Given the description of an element on the screen output the (x, y) to click on. 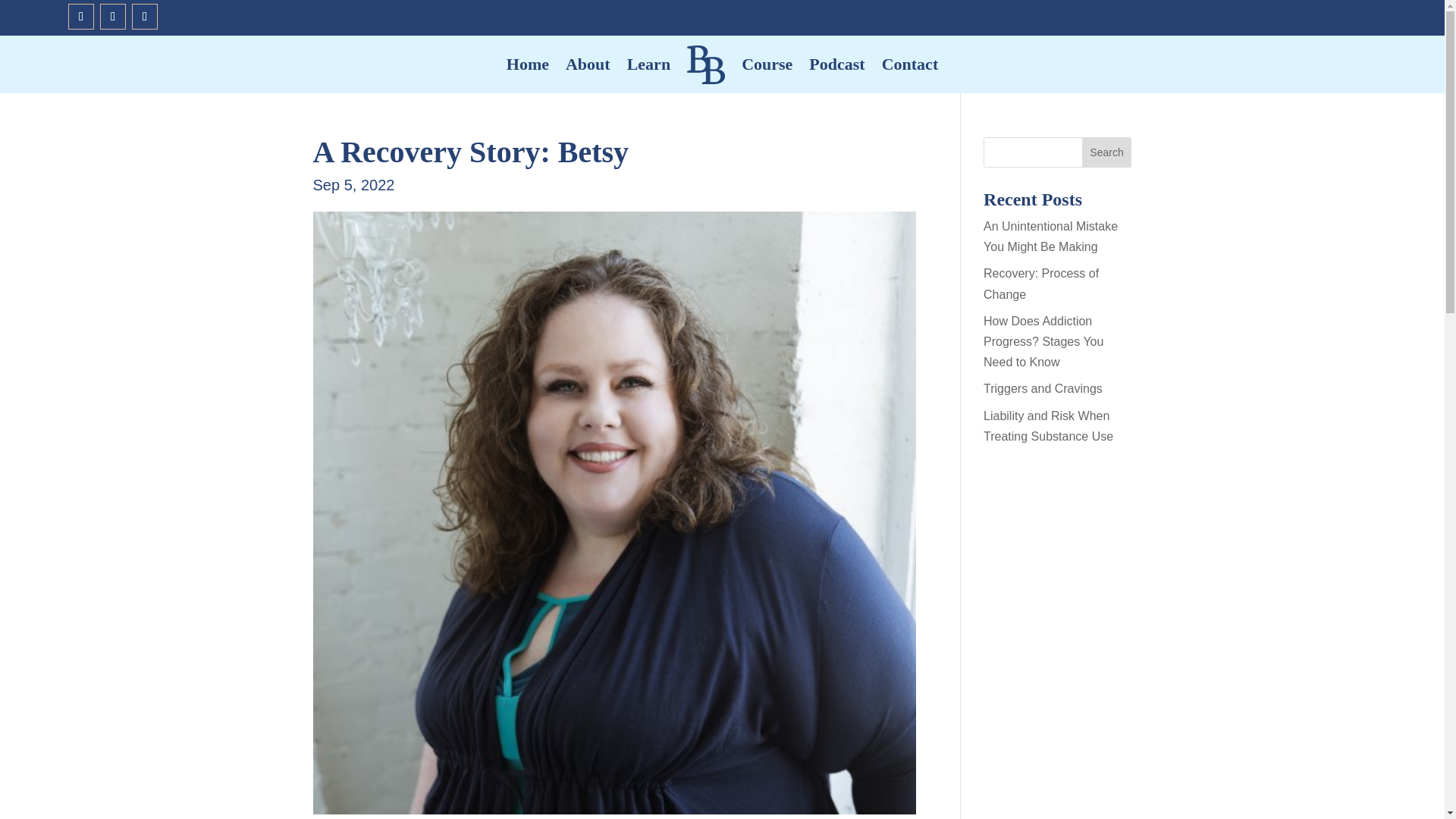
Triggers and Cravings (1043, 388)
Follow on LinkedIn (144, 16)
Follow on Facebook (112, 16)
Contact (910, 64)
Follow on Pinterest (81, 16)
How Does Addiction Progress? Stages You Need to Know (1043, 341)
Liability and Risk When Treating Substance Use (1048, 426)
Search (1106, 152)
Recovery: Process of Change (1041, 283)
Podcast (836, 64)
